Given the description of an element on the screen output the (x, y) to click on. 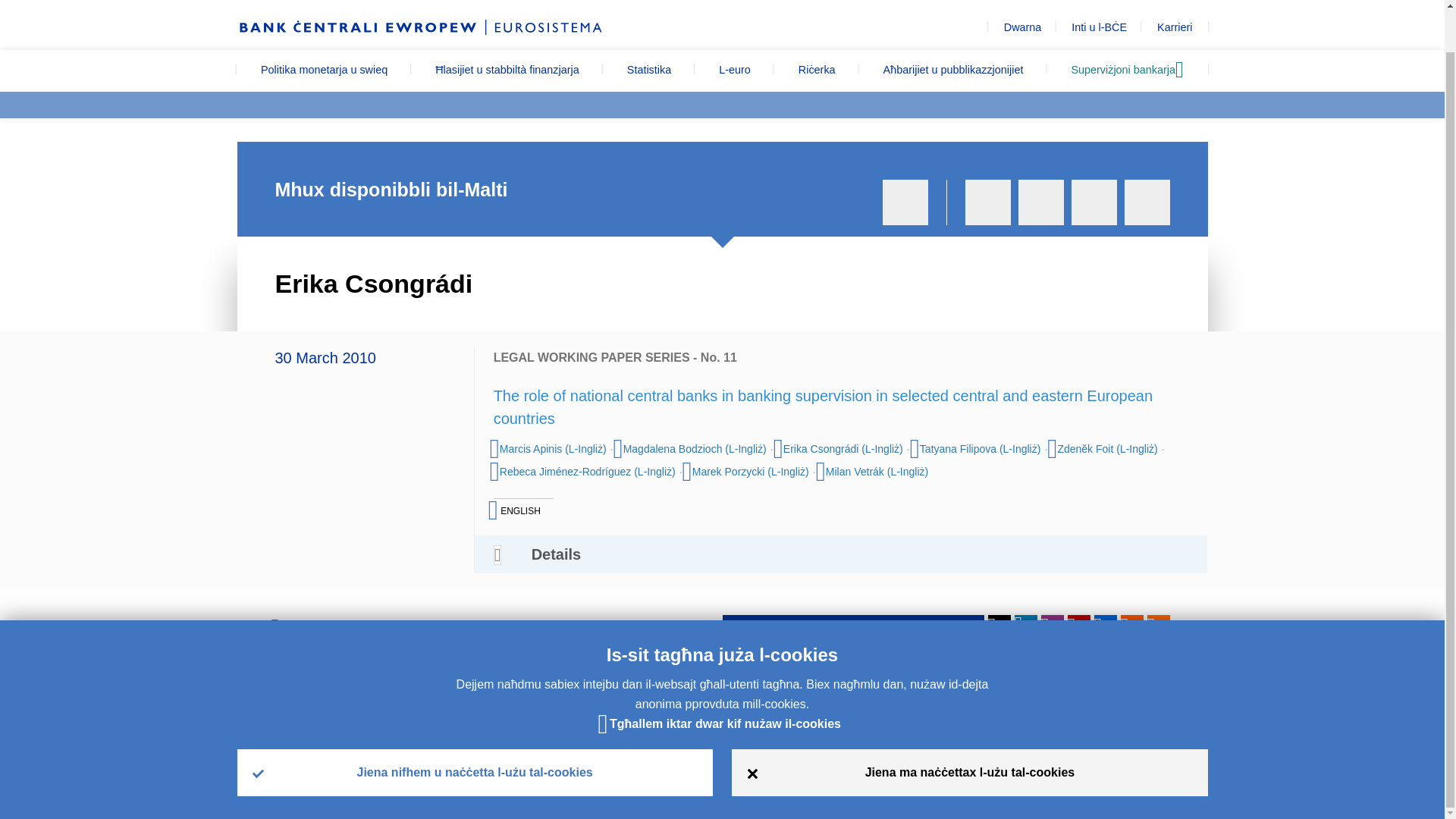
Select language (1153, 0)
Politika monetarja u swieq (322, 70)
